Given the description of an element on the screen output the (x, y) to click on. 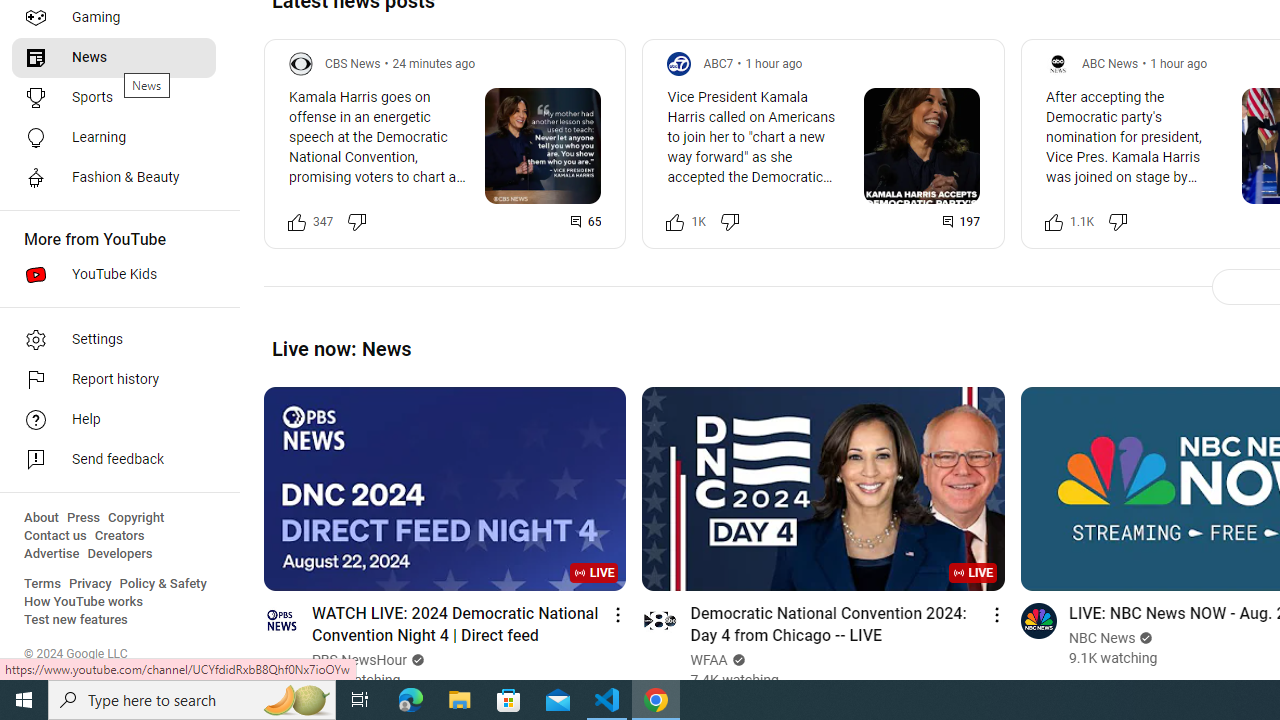
Test new features (76, 620)
24 minutes ago (433, 63)
Dislike this post (1118, 221)
1 hour ago (1178, 63)
Send feedback (113, 459)
ABC7 (717, 63)
NBC News (1101, 637)
Verified (1144, 637)
Press (83, 518)
Developers (120, 554)
Like this post along with 1,140 other people (1053, 221)
PBS NewsHour (360, 660)
ABC News (1110, 63)
How YouTube works (83, 602)
